Given the description of an element on the screen output the (x, y) to click on. 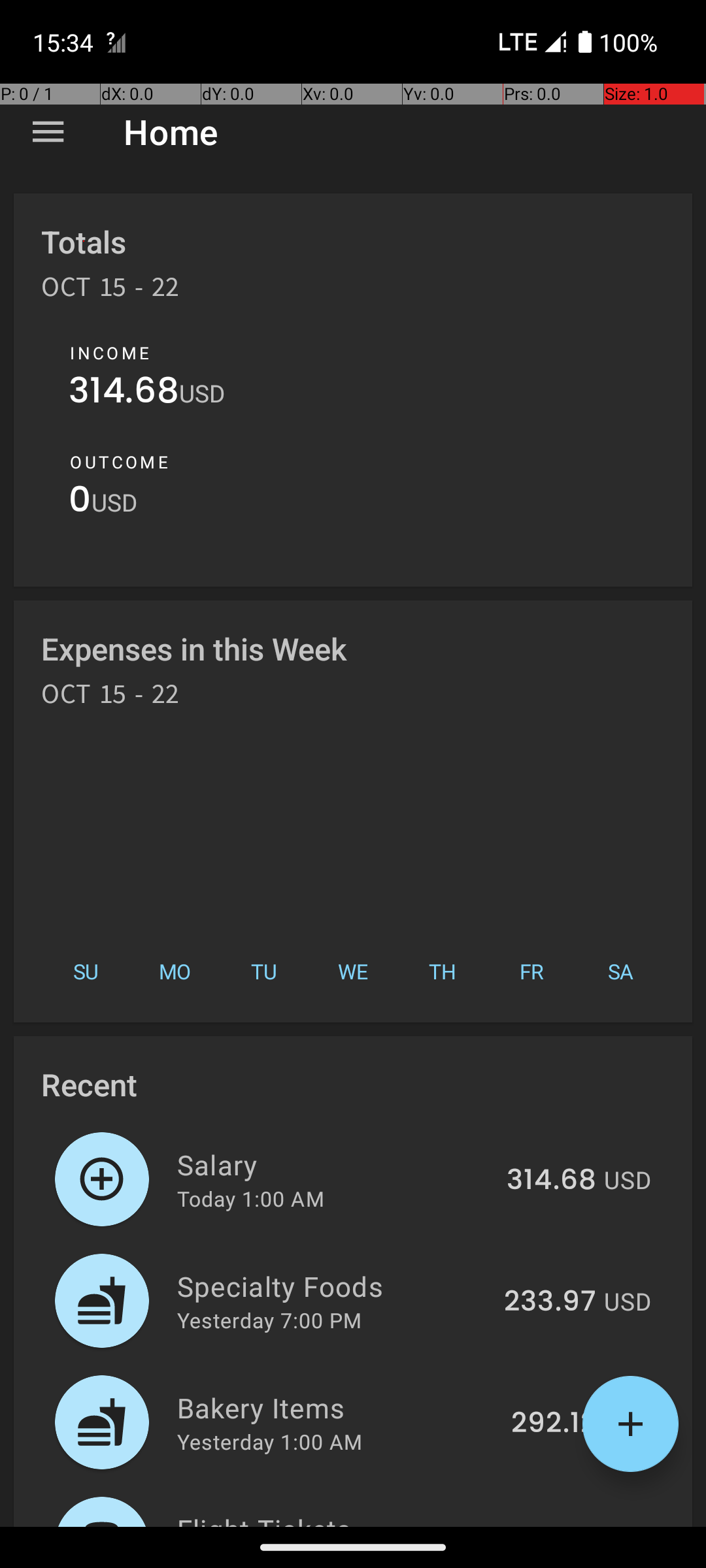
314.68 Element type: android.widget.TextView (123, 393)
Salary Element type: android.widget.TextView (334, 1164)
Today 1:00 AM Element type: android.widget.TextView (250, 1198)
Specialty Foods Element type: android.widget.TextView (332, 1285)
Yesterday 7:00 PM Element type: android.widget.TextView (269, 1320)
233.97 Element type: android.widget.TextView (549, 1301)
Bakery Items Element type: android.widget.TextView (336, 1407)
Yesterday 1:00 AM Element type: android.widget.TextView (269, 1441)
292.12 Element type: android.widget.TextView (553, 1423)
Flight Tickets Element type: android.widget.TextView (343, 1518)
481.7 Element type: android.widget.TextView (560, 1524)
